Given the description of an element on the screen output the (x, y) to click on. 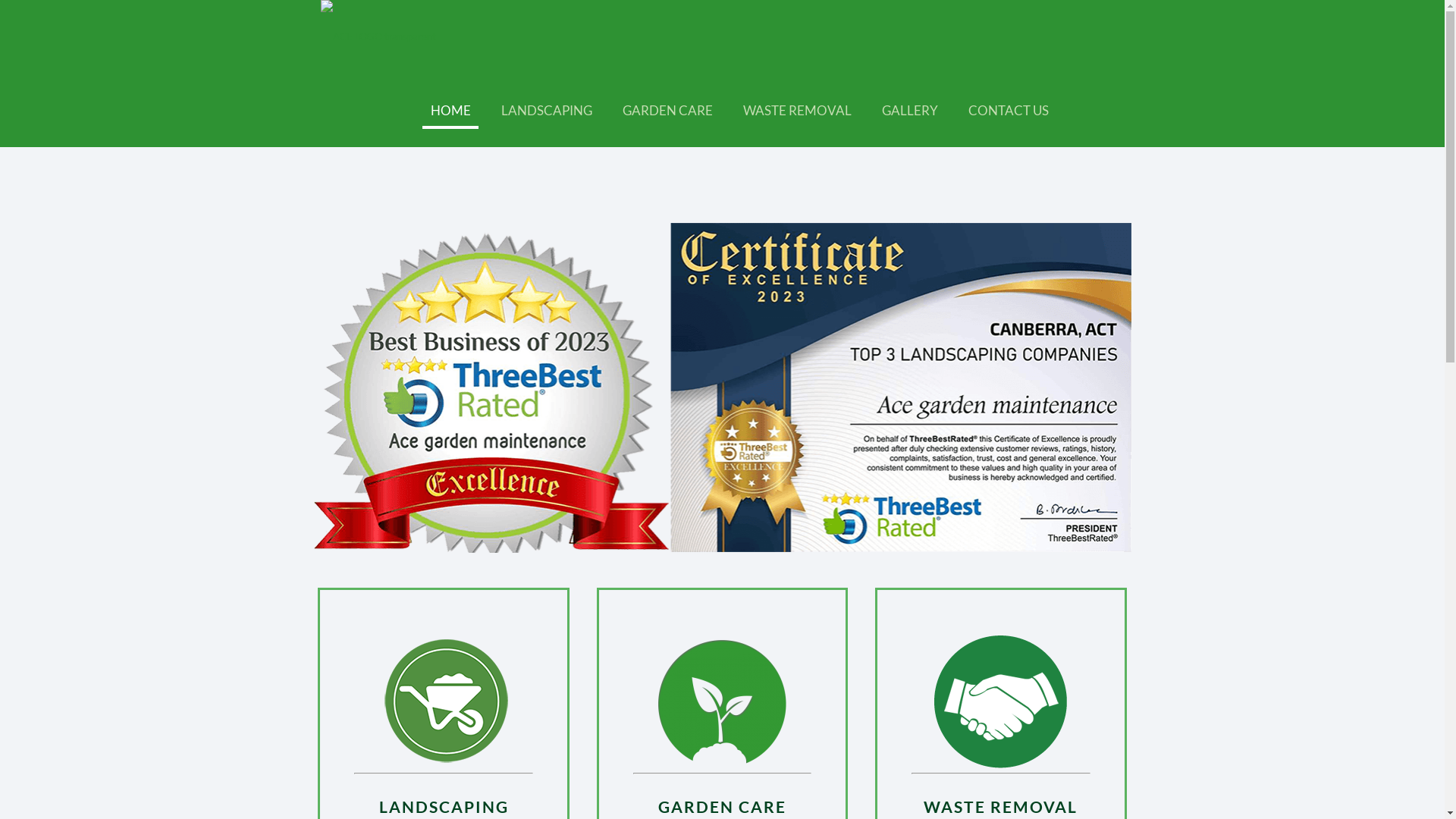
GARDEN CARE Element type: text (667, 110)
Garden Construction Element type: text (582, 570)
ace_gardenmaintenance@yahoo.com.au Element type: text (1043, 655)
HOME Element type: text (450, 110)
Turfs and Synthetic Grass Installation Element type: text (618, 643)
Pavers and Edging Element type: text (577, 594)
0419 905 410 Element type: text (1037, 612)
Garden Maintenance Element type: text (792, 589)
Garden & Yard Clean Up Element type: text (799, 661)
Lawn Mowing Element type: text (776, 613)
WASTE REMOVAL Element type: text (797, 110)
Retaining Walls Element type: text (570, 618)
Ace Home & Garden Maintenance Element type: hover (378, 36)
Canberraweb Element type: text (854, 786)
Waste Removal Element type: text (780, 686)
Garden Mulching Element type: text (783, 637)
GALLERY Element type: text (909, 110)
LANDSCAPING Element type: text (546, 110)
CONTACT US Element type: text (1008, 110)
